Given the description of an element on the screen output the (x, y) to click on. 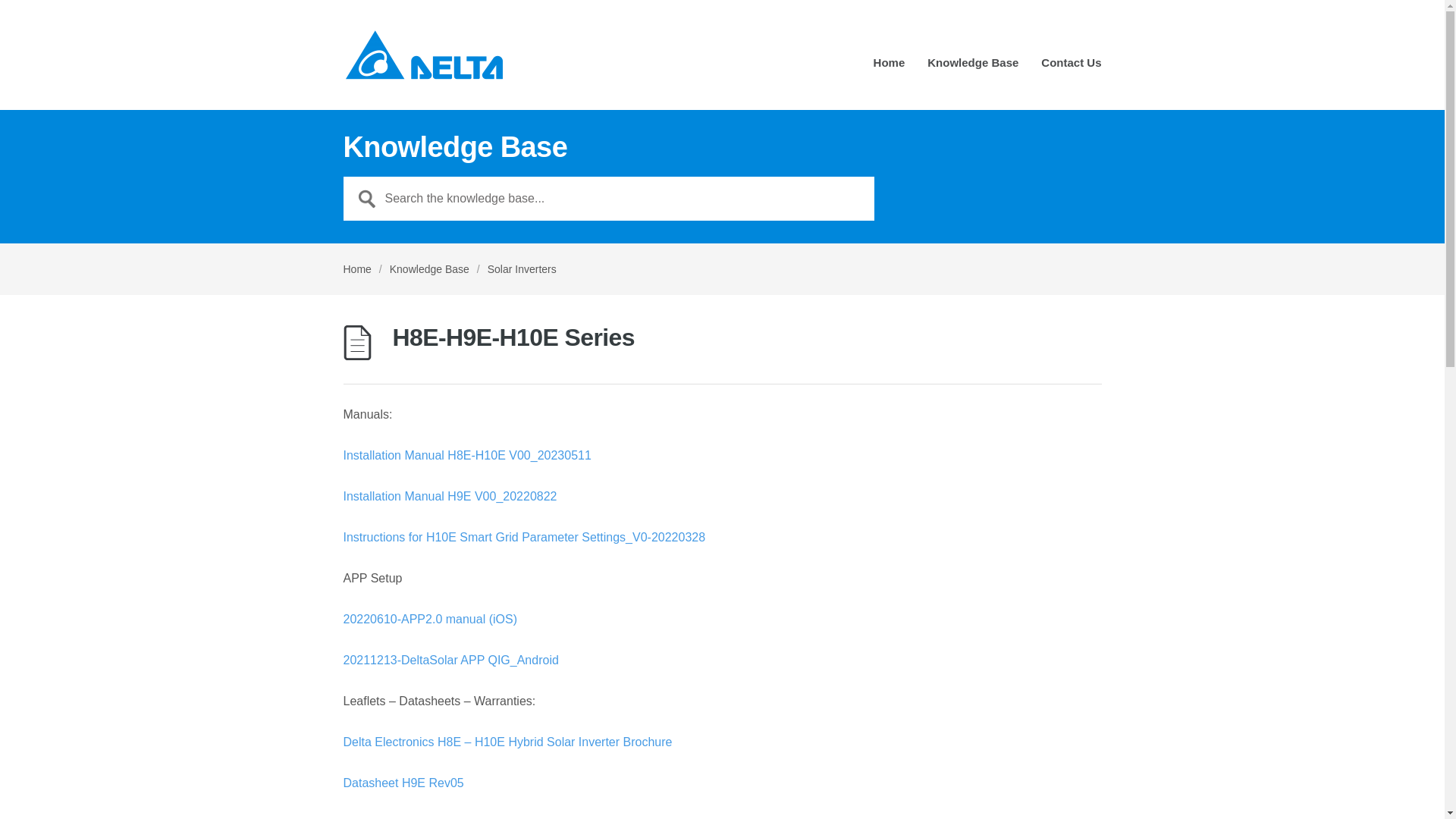
Datasheet H9E Rev05 Element type: text (402, 782)
20220610-APP2.0 manual (iOS) Element type: text (429, 618)
Delta Support Element type: hover (423, 54)
20211213-DeltaSolar APP QIG_Android Element type: text (450, 659)
Home Element type: text (356, 269)
Knowledge Base Element type: text (429, 269)
Installation Manual H8E-H10E V00_20230511 Element type: text (466, 454)
Home Element type: text (889, 67)
Contact Us Element type: text (1071, 67)
Installation Manual H9E V00_20220822 Element type: text (449, 495)
Knowledge Base Element type: text (972, 67)
Solar Inverters Element type: text (521, 269)
